Given the description of an element on the screen output the (x, y) to click on. 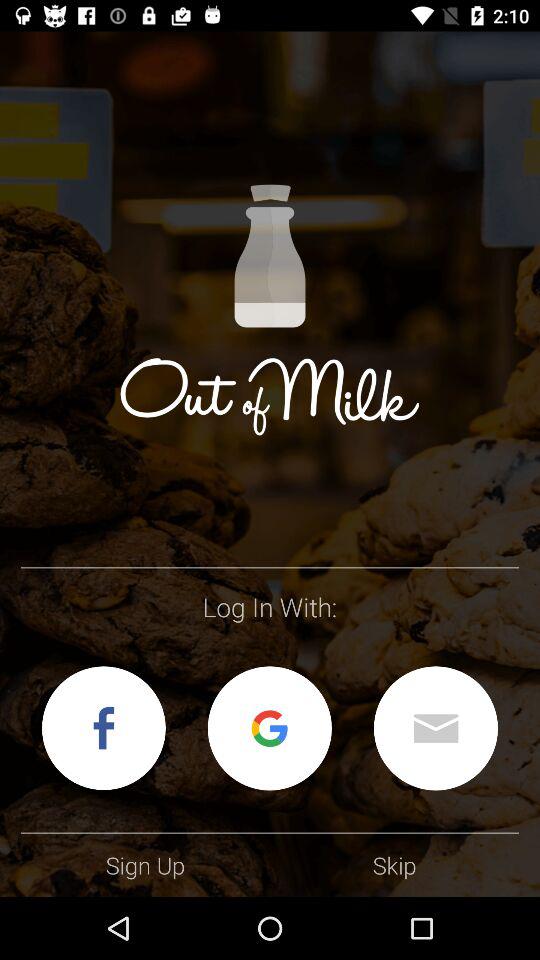
connect this to facebook (103, 728)
